Given the description of an element on the screen output the (x, y) to click on. 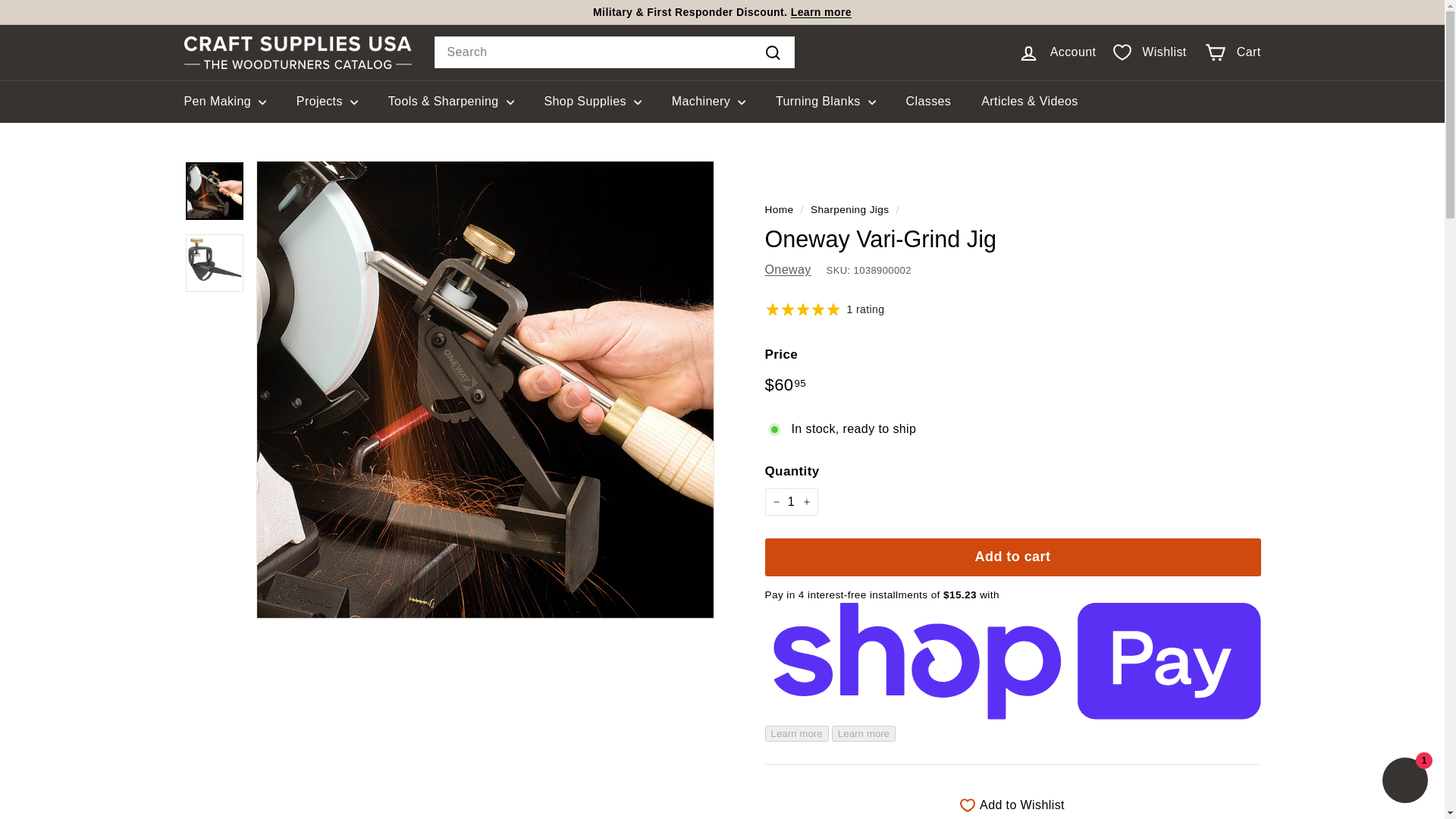
Learn more (820, 11)
Account (1057, 52)
Back to the frontpage (778, 209)
Cart (1232, 52)
Exclusive Discounts (820, 11)
Oneway (787, 269)
1 (790, 501)
Wishlist (1150, 52)
